Given the description of an element on the screen output the (x, y) to click on. 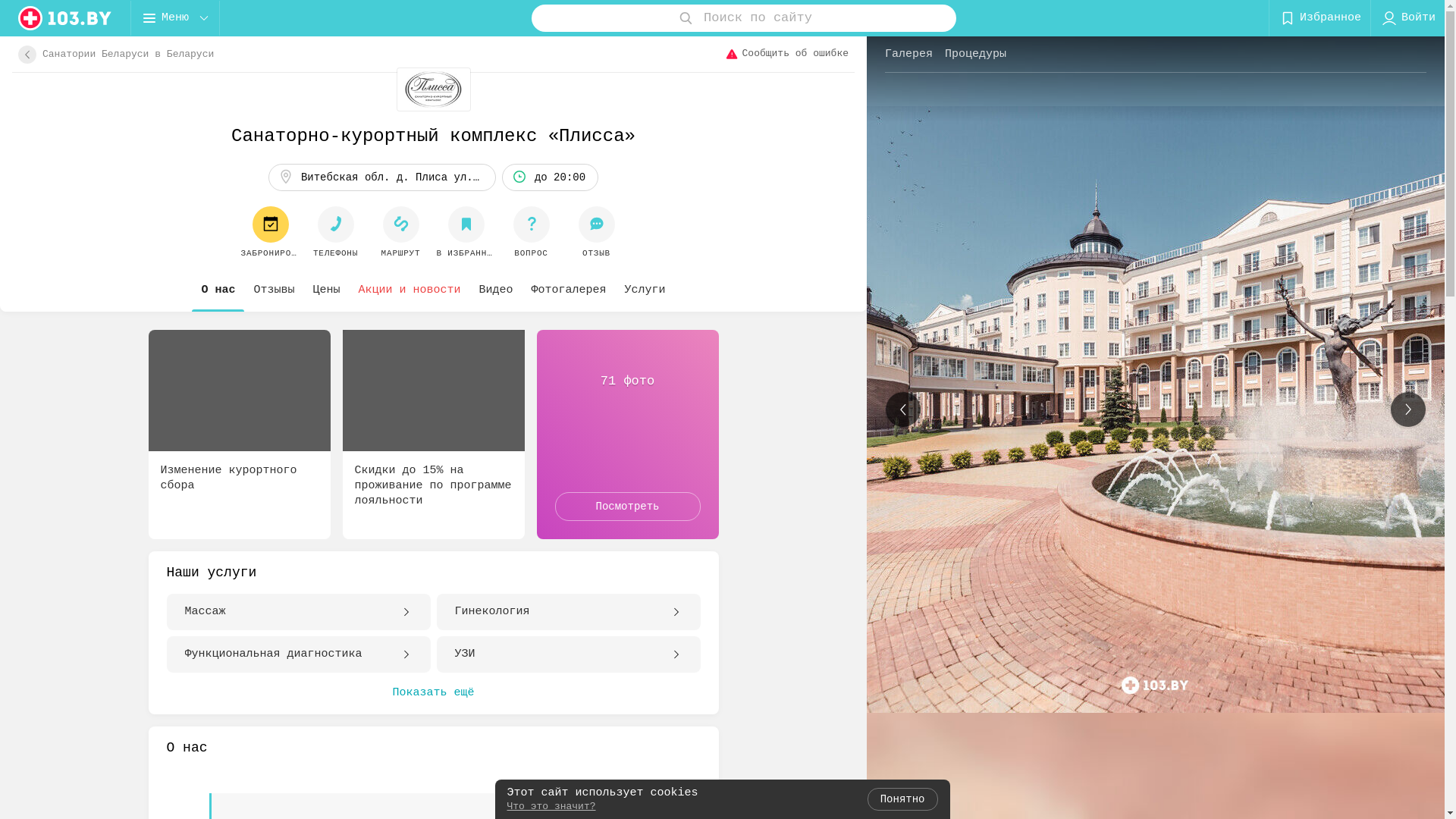
logo Element type: hover (65, 18)
